Given the description of an element on the screen output the (x, y) to click on. 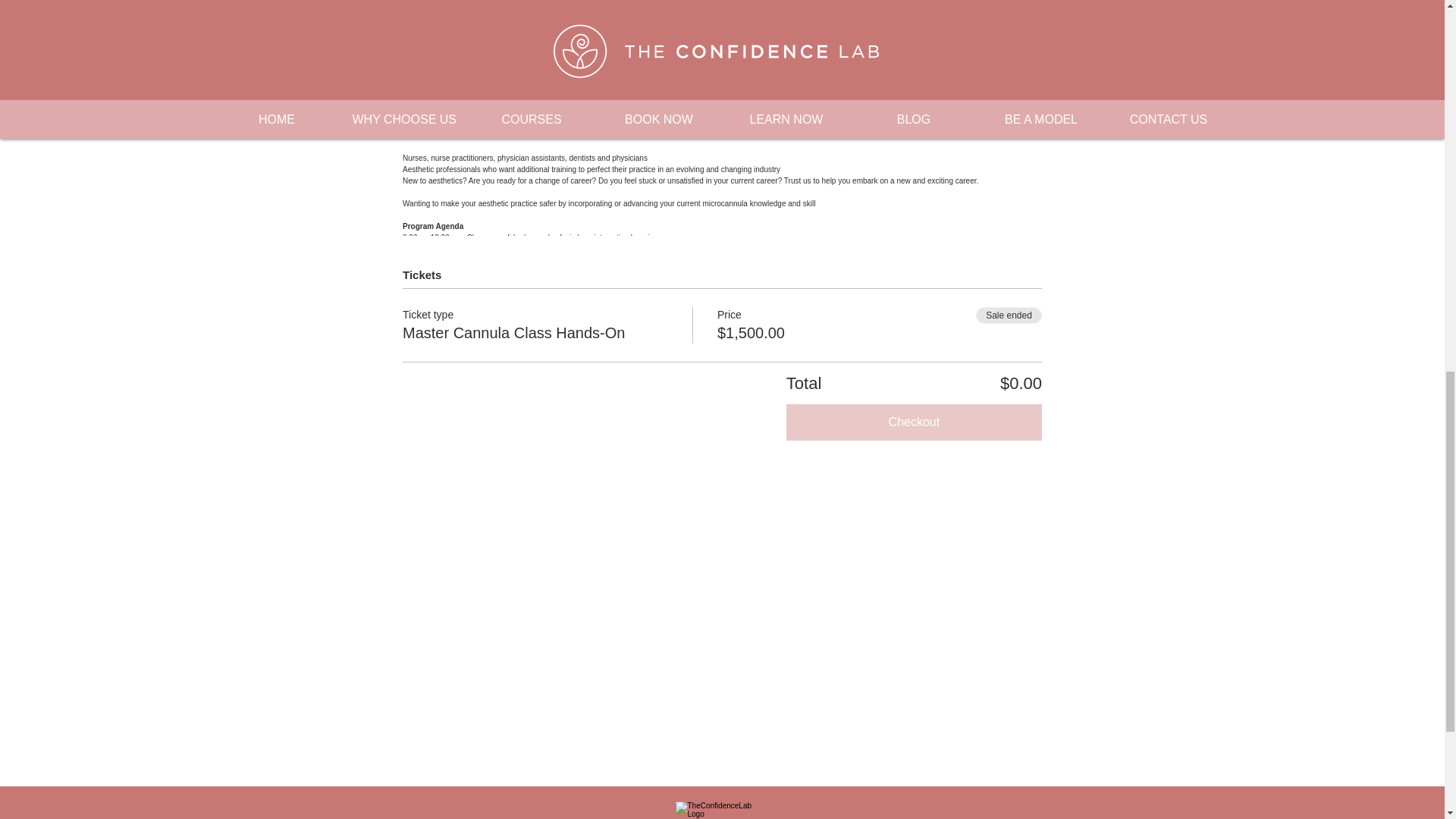
Checkout (914, 422)
